Given the description of an element on the screen output the (x, y) to click on. 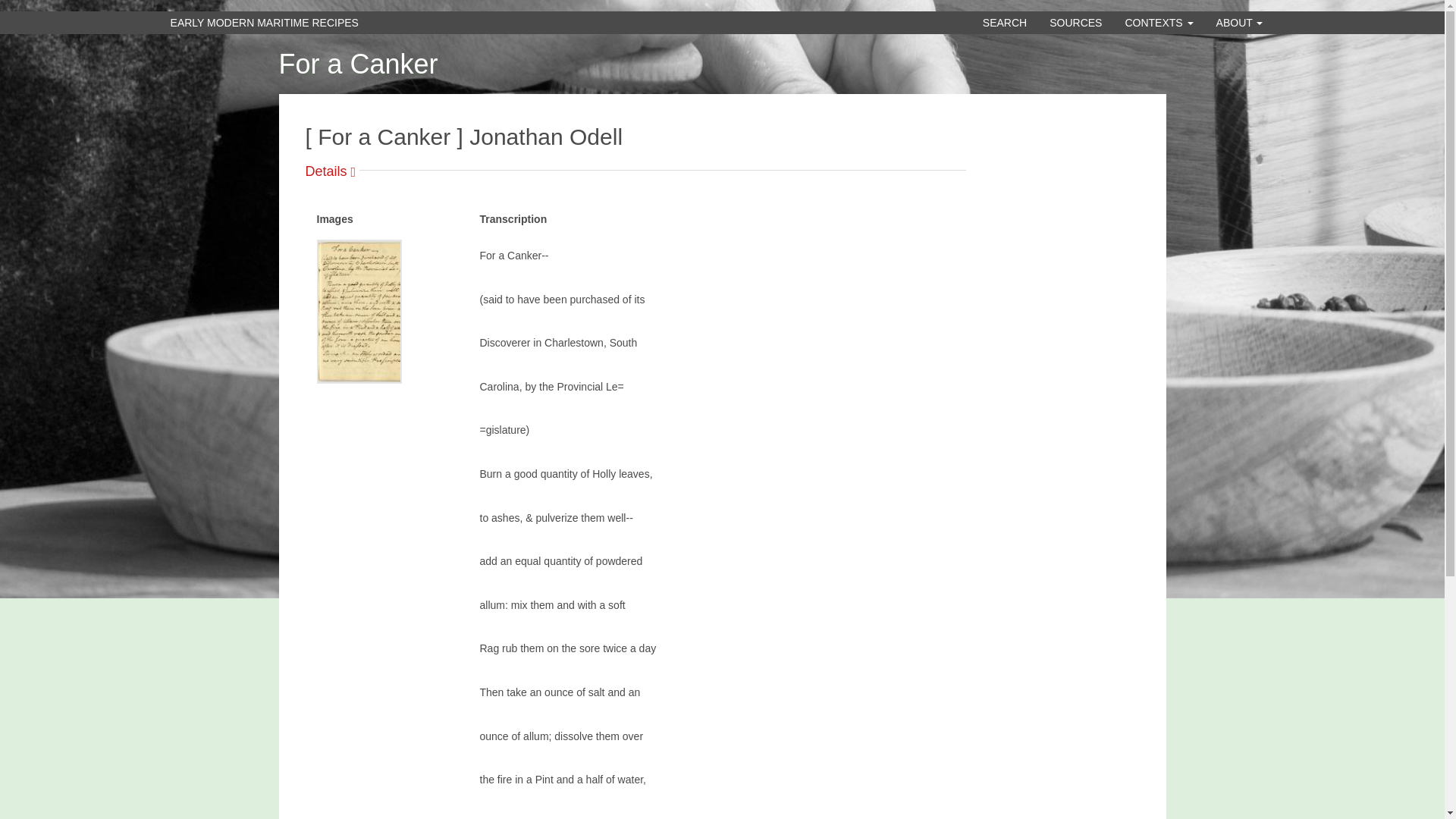
Contexts. (1158, 22)
Lookup by source collection. (1075, 22)
Home (263, 22)
Main recipe search. (1004, 22)
SEARCH (1004, 22)
CONTEXTS (1158, 22)
EARLY MODERN MARITIME RECIPES (263, 22)
About the site. (1240, 22)
ABOUT (1240, 22)
Details (331, 171)
SOURCES (1075, 22)
